Given the description of an element on the screen output the (x, y) to click on. 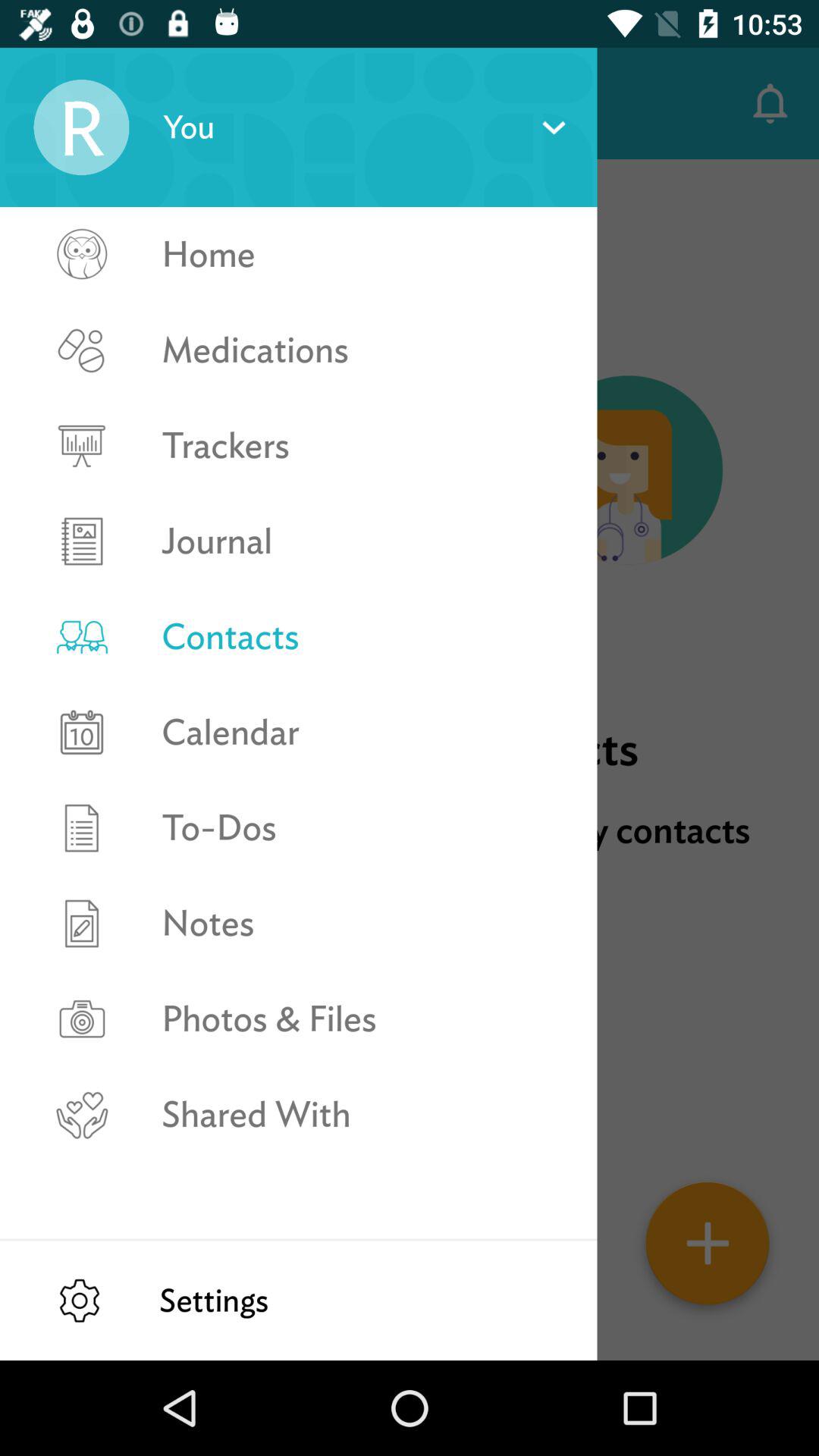
jump to photos & files (363, 1018)
